Given the description of an element on the screen output the (x, y) to click on. 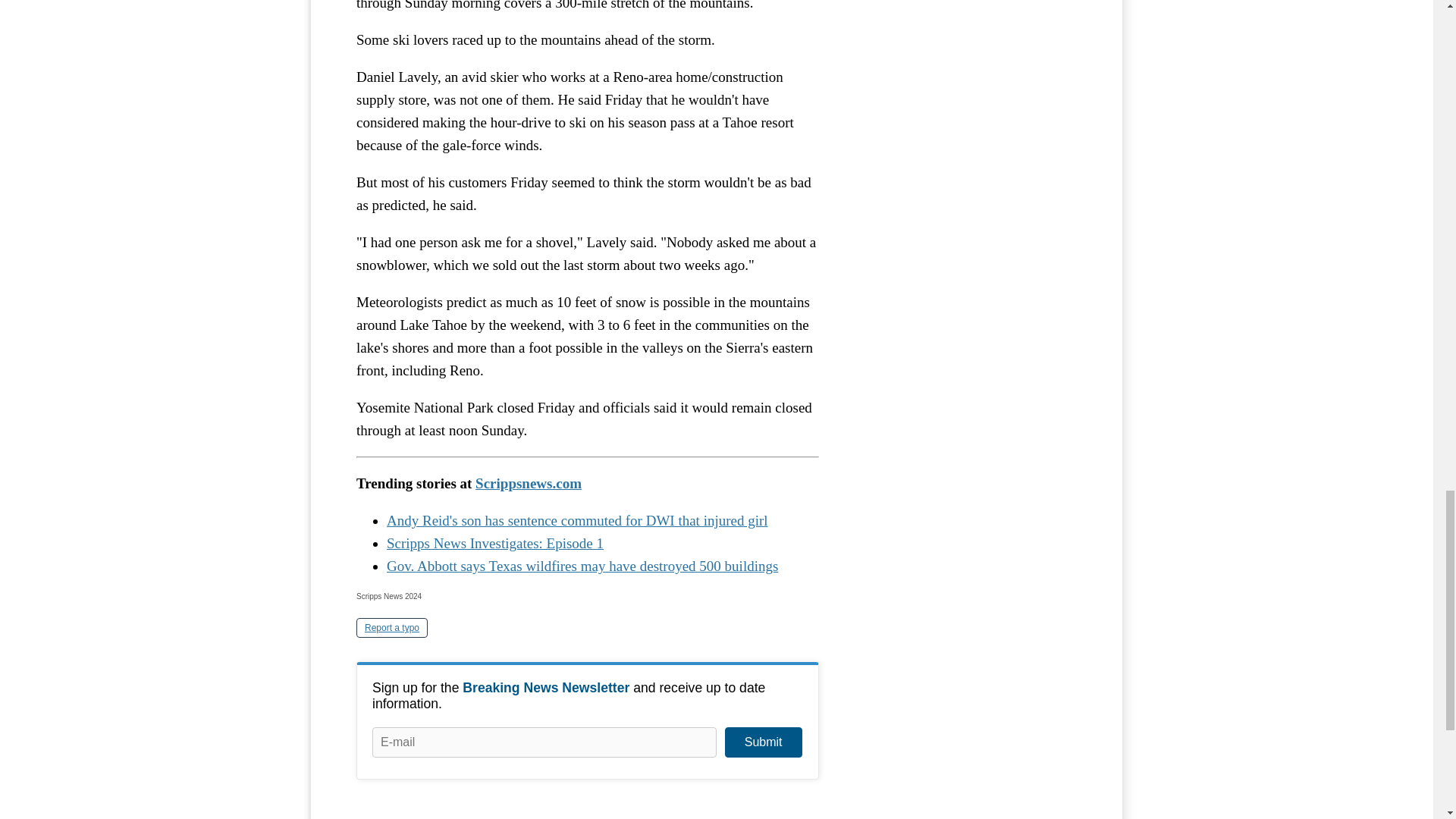
Submit (763, 742)
